Given the description of an element on the screen output the (x, y) to click on. 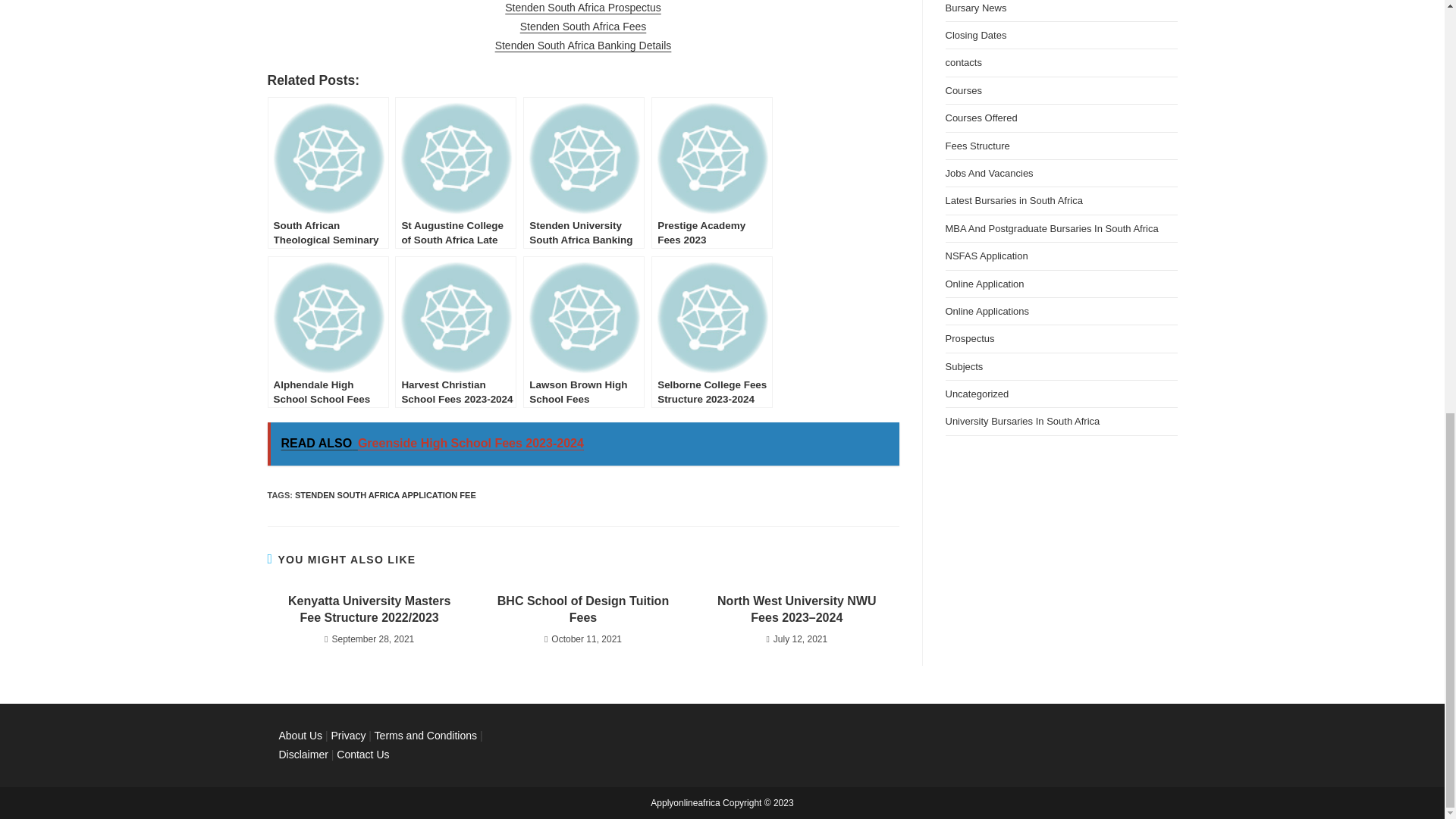
Stenden South Africa Prospectus (583, 7)
Stenden South Africa Fees (582, 26)
Stenden South Africa Banking Details (583, 45)
